Given the description of an element on the screen output the (x, y) to click on. 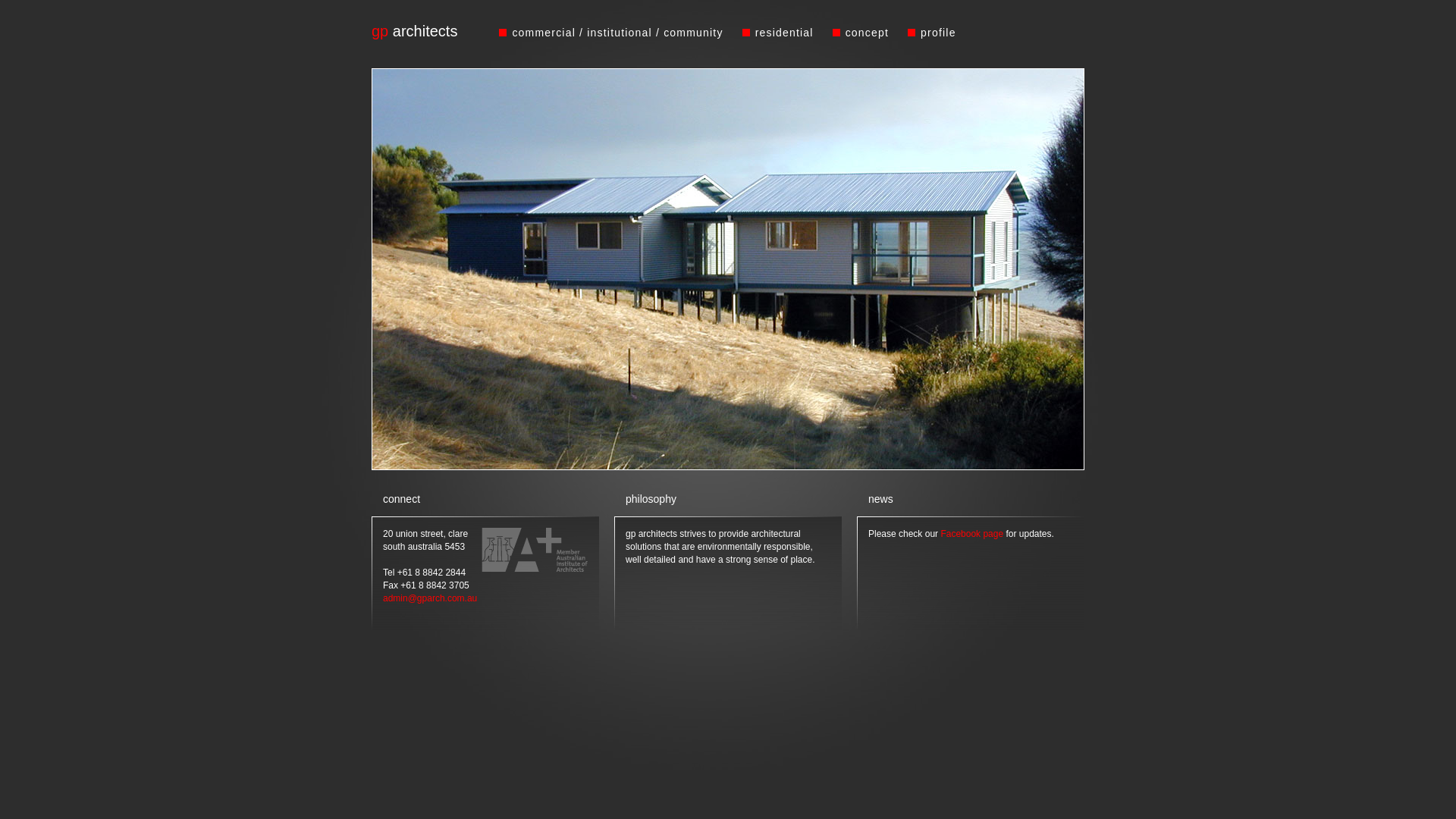
residential Element type: text (784, 32)
admin@gparch.com.au Element type: text (429, 598)
Facebook page Element type: text (971, 533)
commercial / institutional / community Element type: text (616, 32)
gp architects Element type: text (414, 30)
concept Element type: text (866, 32)
profile Element type: text (938, 32)
